Given the description of an element on the screen output the (x, y) to click on. 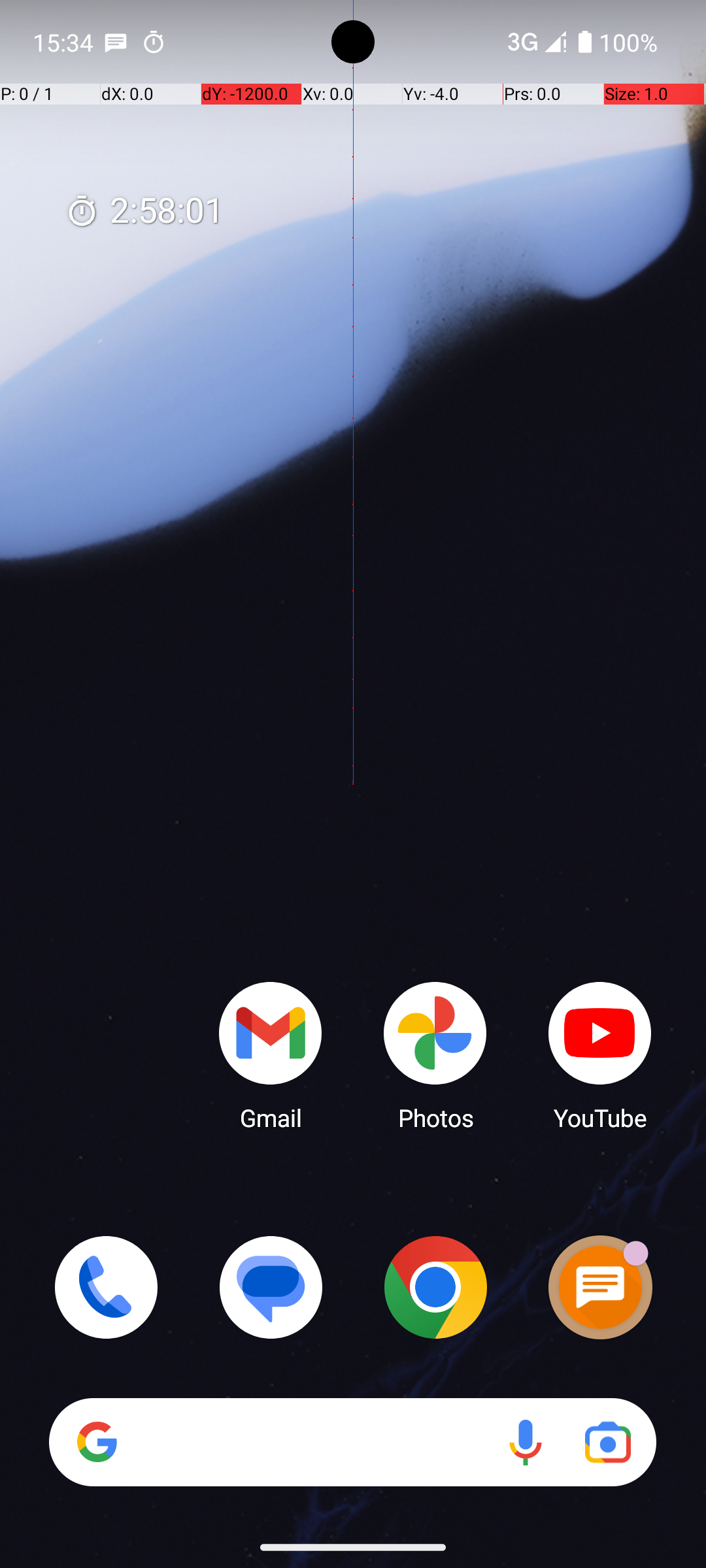
2:58:01 Element type: android.widget.TextView (144, 210)
